Given the description of an element on the screen output the (x, y) to click on. 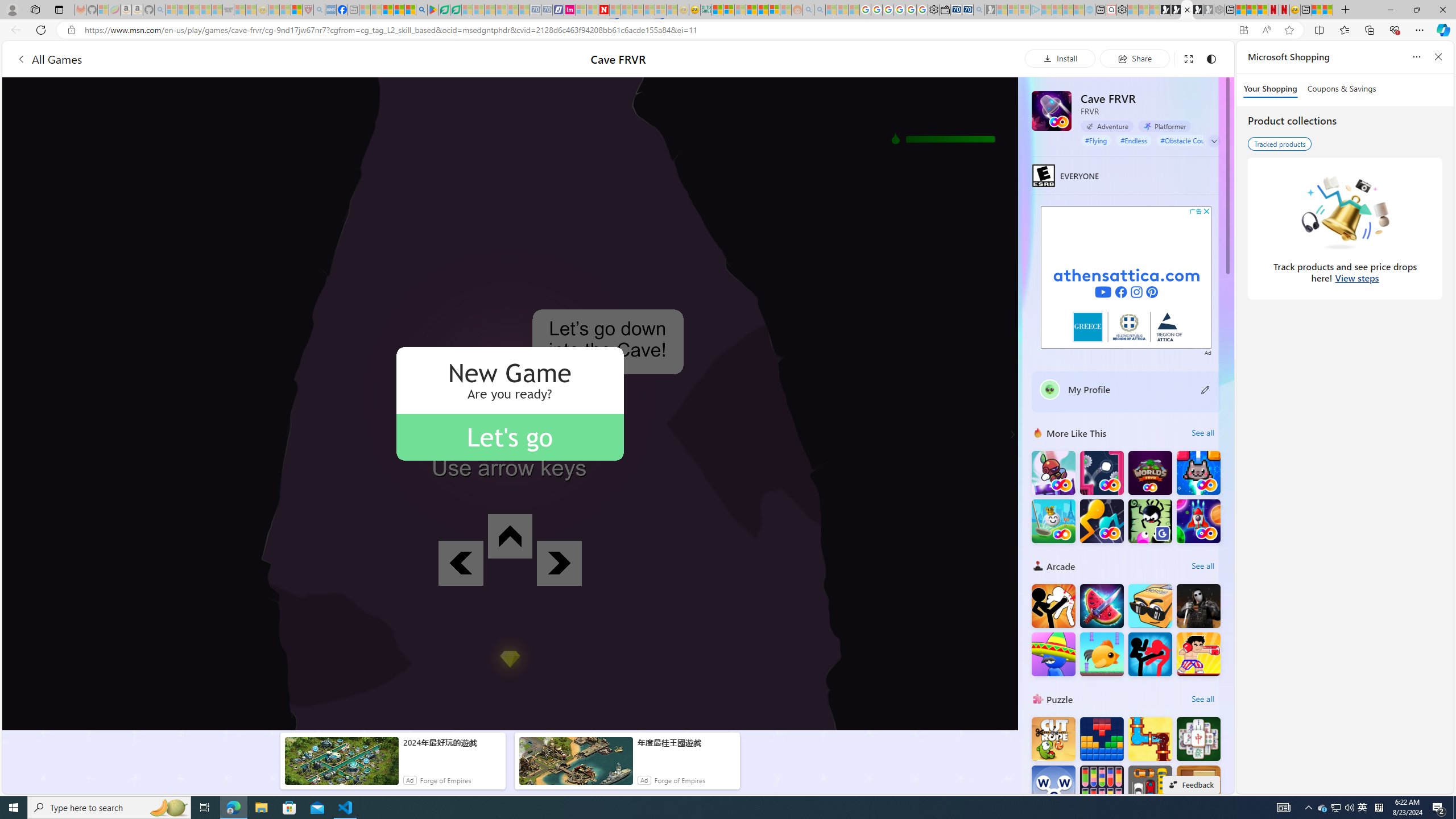
More Like This (1037, 432)
Wallet (944, 9)
Class: control (1214, 140)
Play Free Online Games | Games from Microsoft Start (1164, 9)
DITOGAMES AG Imprint (705, 9)
Cheap Hotels - Save70.com - Sleeping (546, 9)
App available. Install Cave FRVR (1243, 29)
#Endless (1133, 140)
Microsoft account | Privacy - Sleeping (1024, 9)
MSNBC - MSN (717, 9)
BlockBuster: Adventures Puzzle (1101, 738)
